Given the description of an element on the screen output the (x, y) to click on. 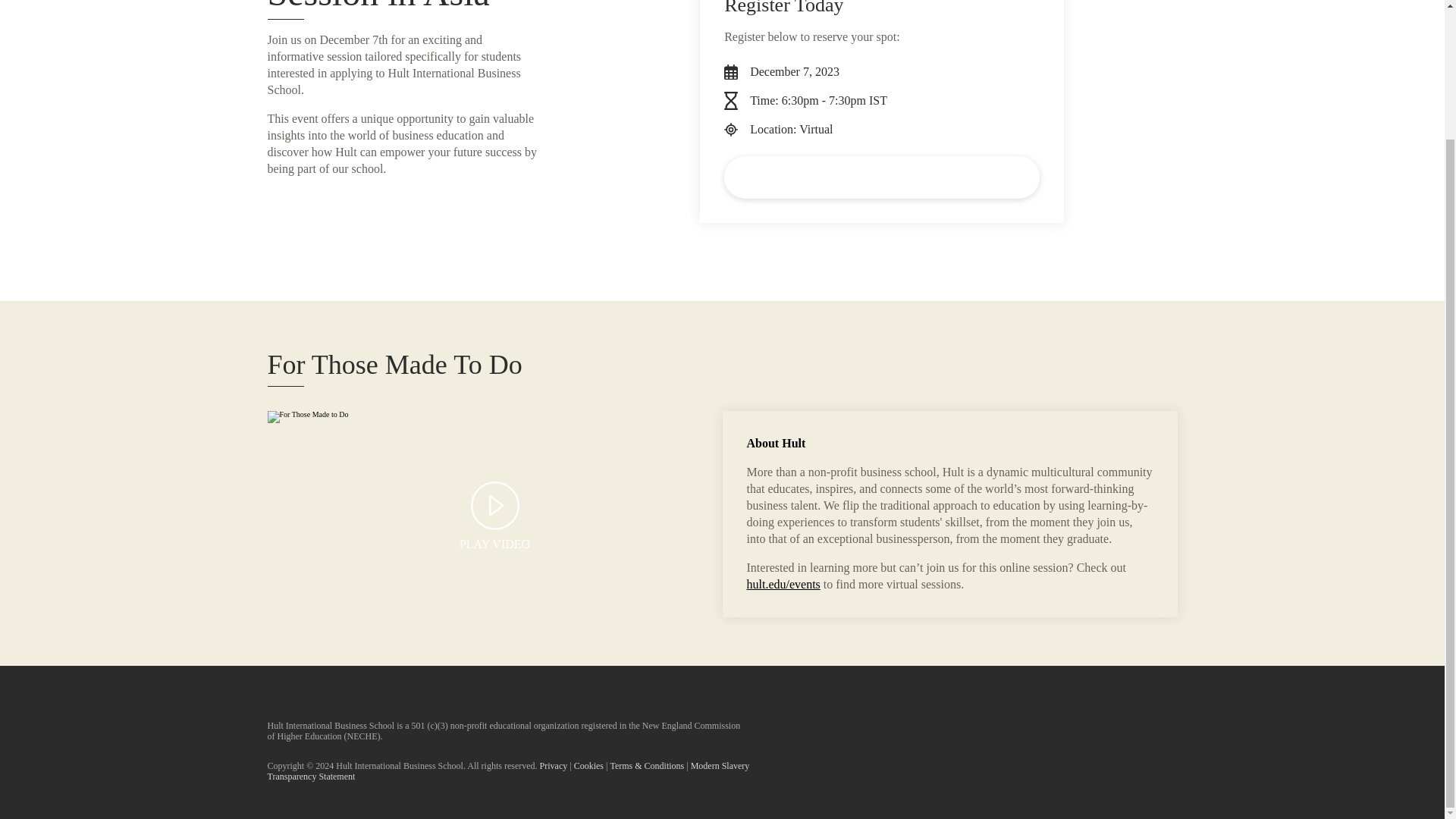
Cookies (588, 765)
Register (881, 177)
Privacy (553, 765)
For Those Made to Do (494, 514)
Modern Slavery Transparency Statement (507, 771)
